Given the description of an element on the screen output the (x, y) to click on. 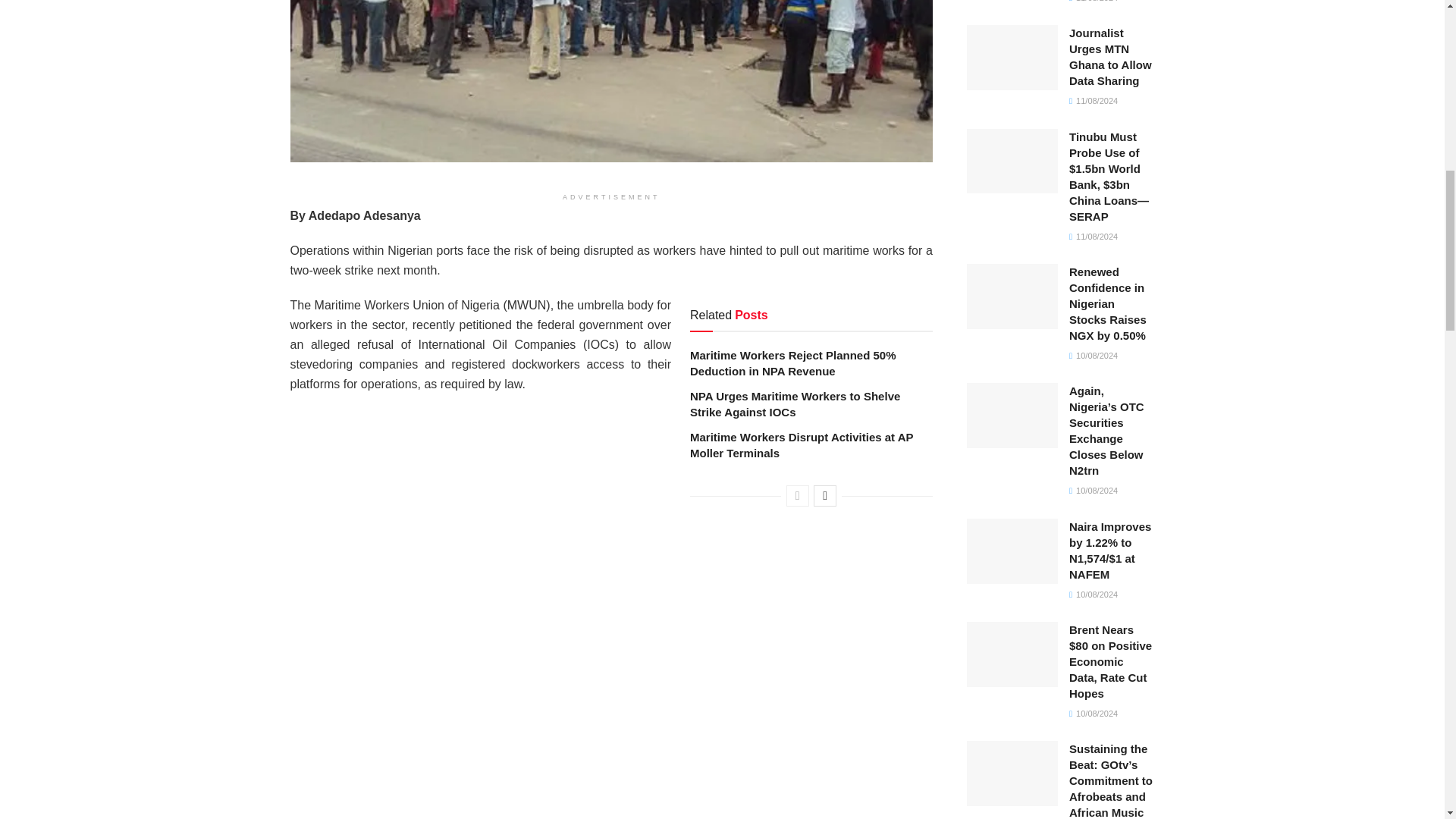
Next (824, 495)
NPA Urges Maritime Workers to Shelve Strike Against IOCs (794, 403)
Previous (797, 495)
